Given the description of an element on the screen output the (x, y) to click on. 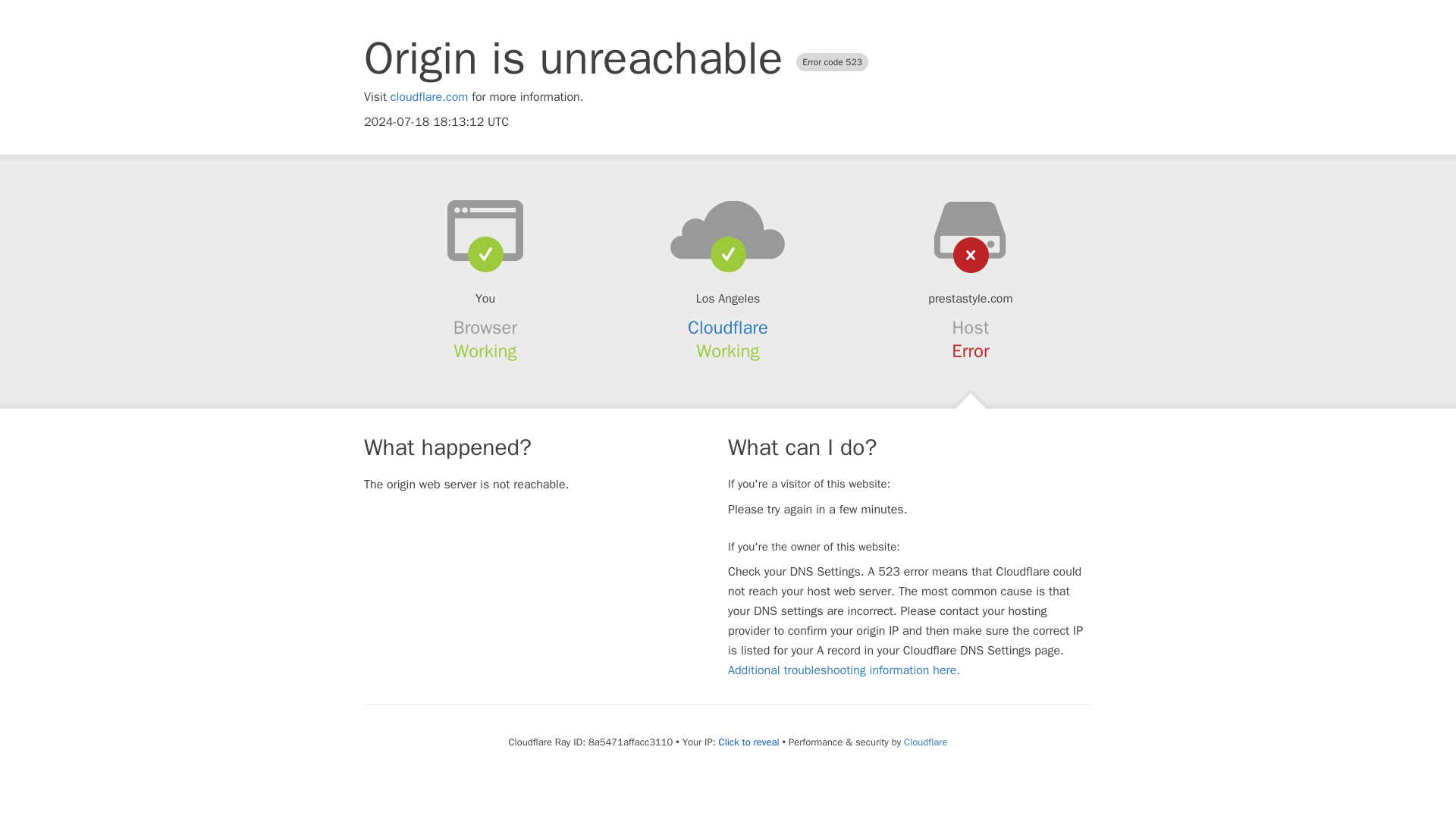
cloudflare.com (429, 96)
Click to reveal (748, 742)
Cloudflare (925, 741)
Additional troubleshooting information here. (843, 670)
Cloudflare (727, 327)
